Given the description of an element on the screen output the (x, y) to click on. 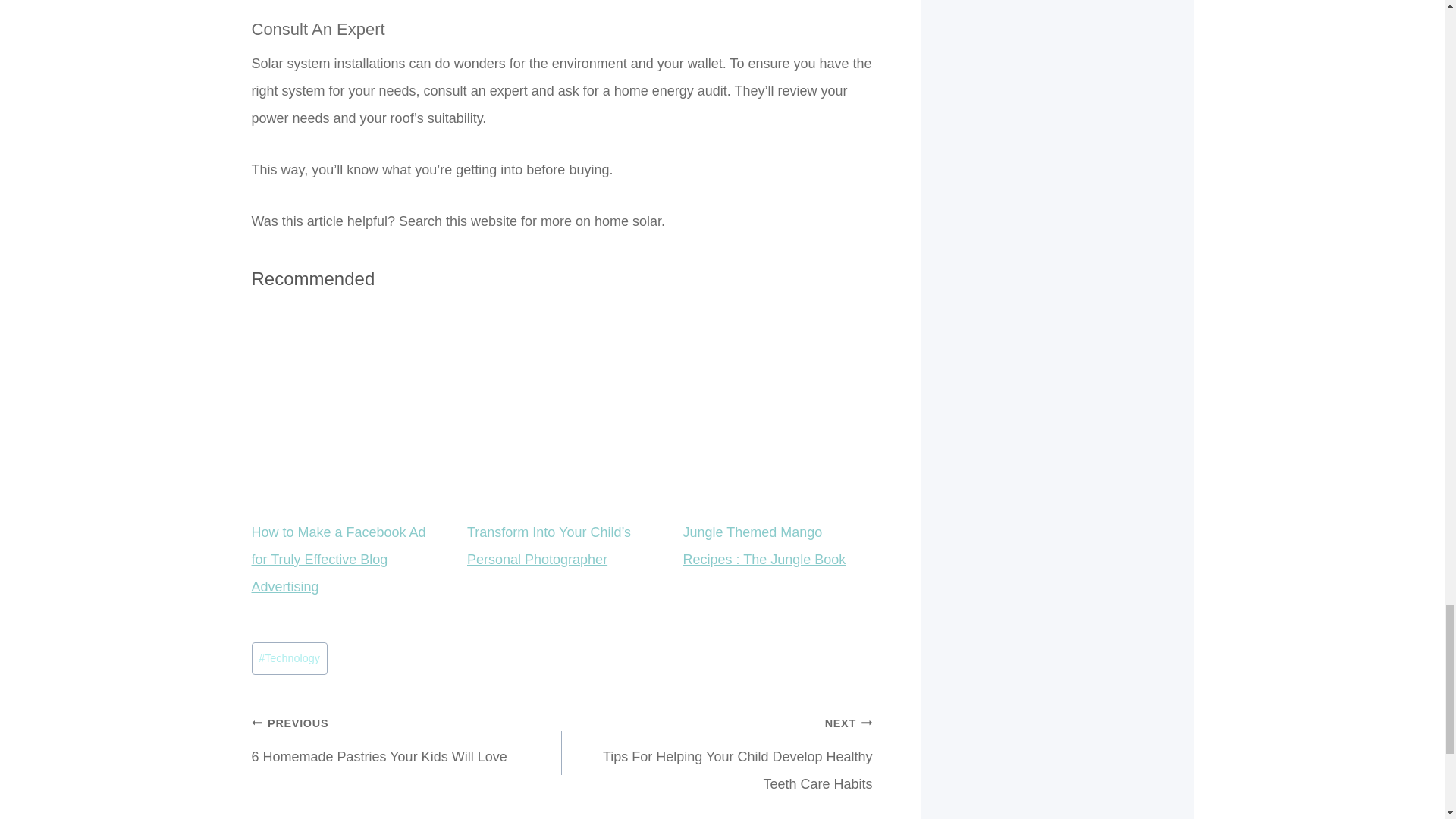
Technology (289, 658)
